Given the description of an element on the screen output the (x, y) to click on. 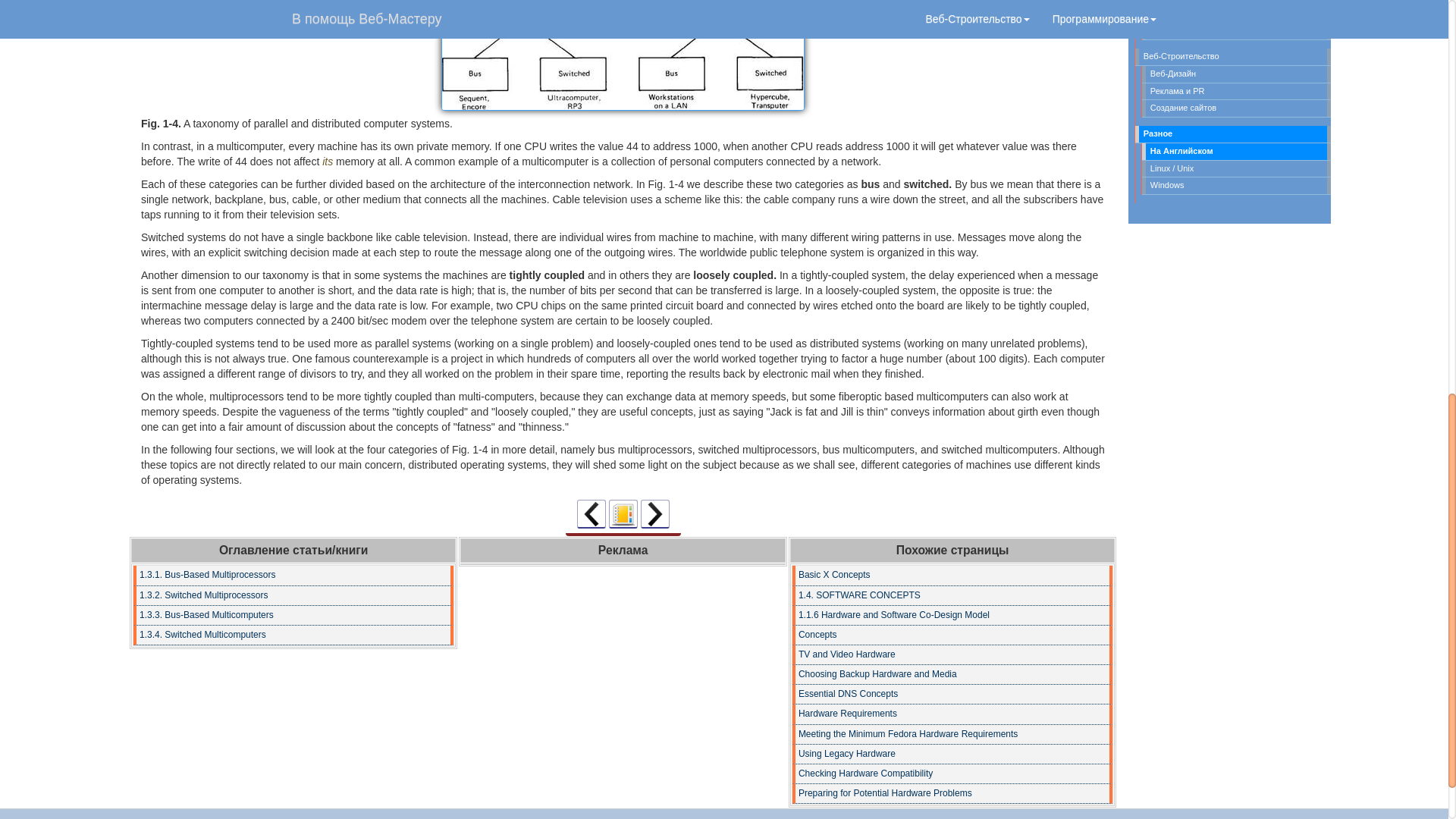
Basic X Concepts (952, 575)
1.4. SOFTWARE CONCEPTS (952, 596)
1.3.3. Bus-Based Multicomputers (292, 615)
1.3.1. Bus-Based Multiprocessors (654, 513)
Basic X Concepts (952, 575)
1.3.1. Bus-Based Multiprocessors (292, 575)
1.3.2. Switched Multiprocessors (292, 596)
1.3.4. Switched Multicomputers (292, 635)
1.2.3. Disadvantages of Distributed Systems (590, 513)
1.3. HARDWARE CONCEPTS (623, 55)
